Given the description of an element on the screen output the (x, y) to click on. 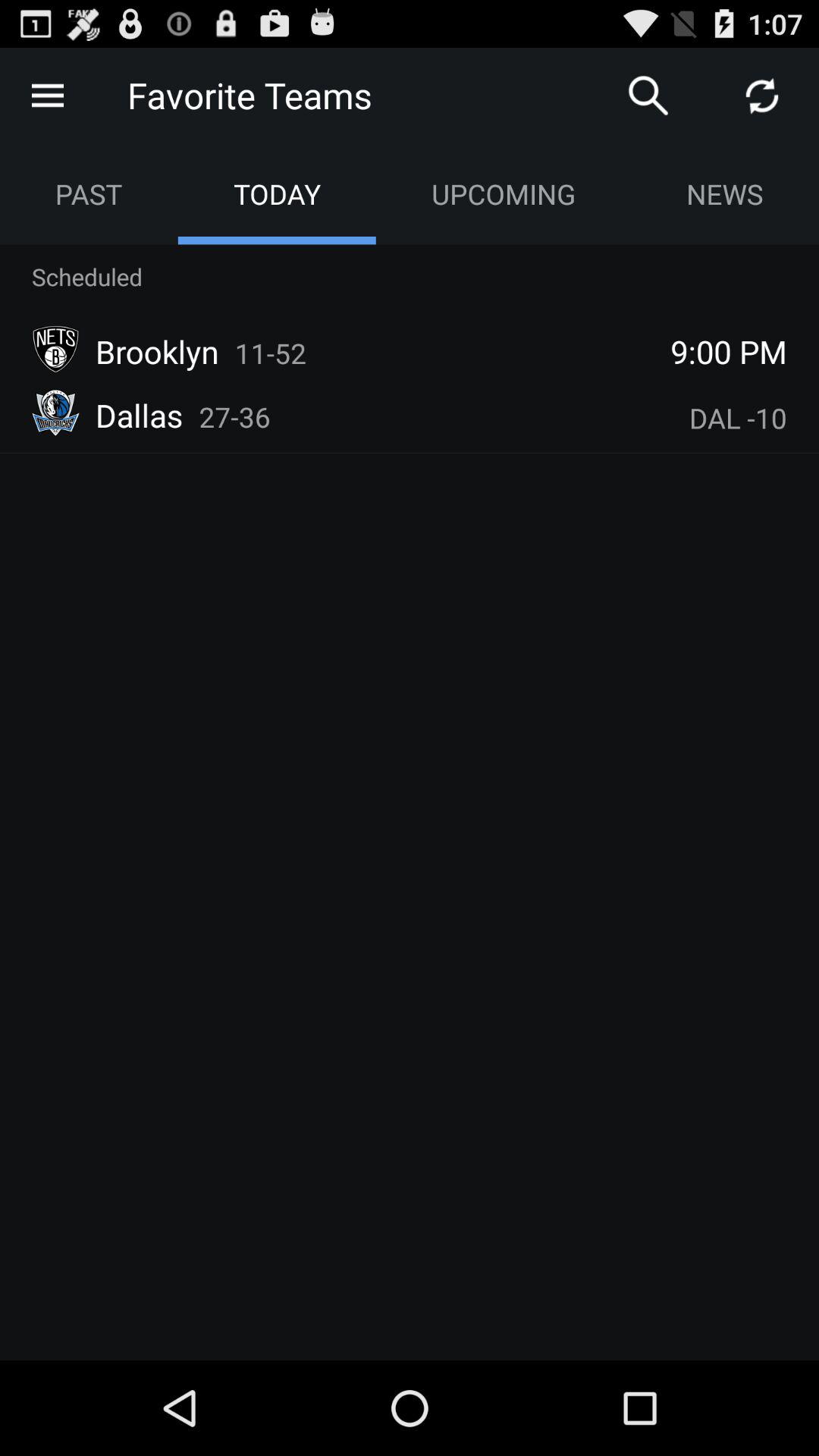
turn off the 9:00 pm icon (728, 351)
